Given the description of an element on the screen output the (x, y) to click on. 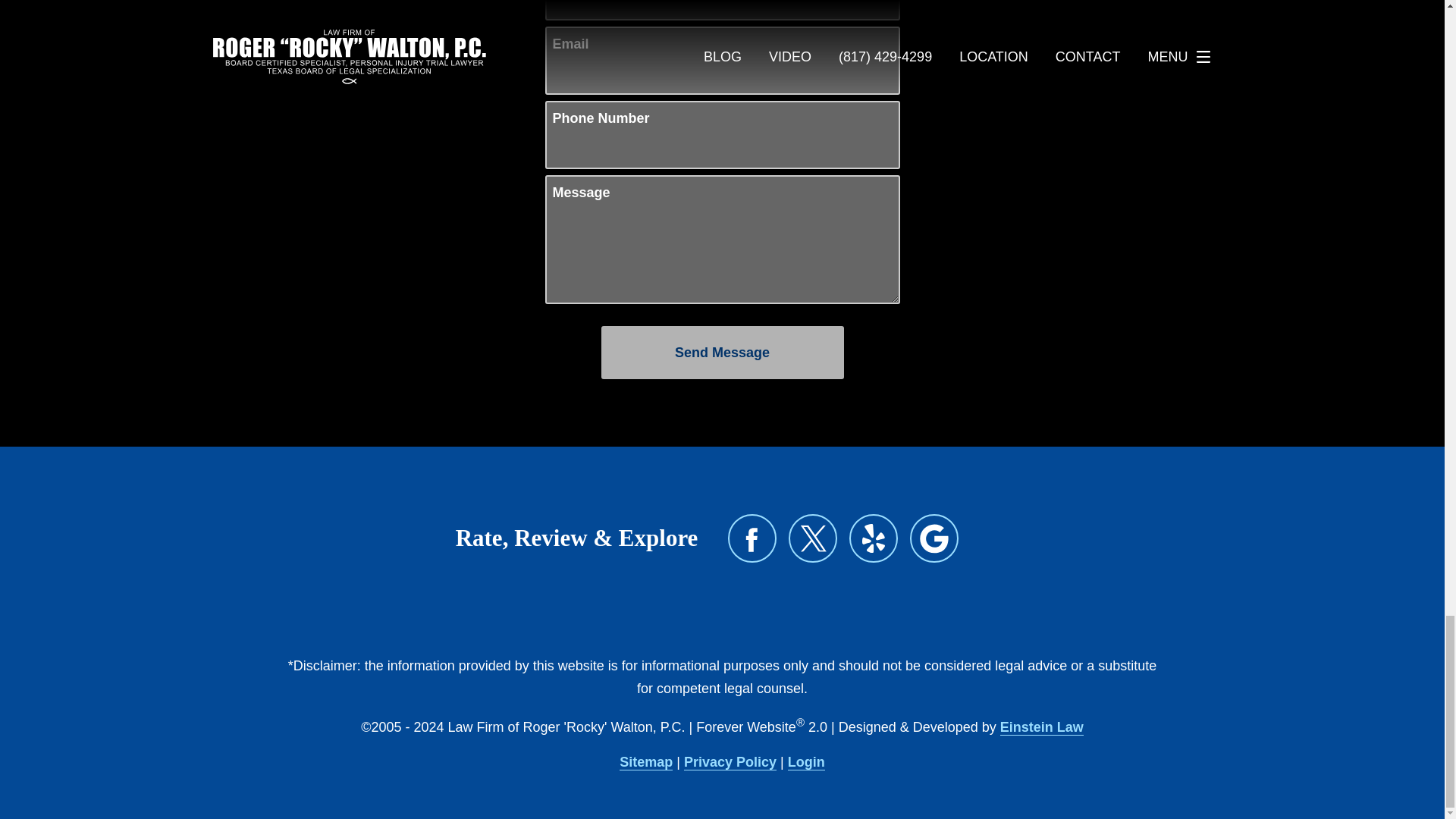
Send Message (721, 352)
Einstein Law (1041, 727)
Login (806, 762)
Sitemap (646, 762)
Google (934, 538)
Privacy Policy (730, 762)
Twitter (813, 538)
Yelp (873, 538)
Facebook (752, 538)
